Given the description of an element on the screen output the (x, y) to click on. 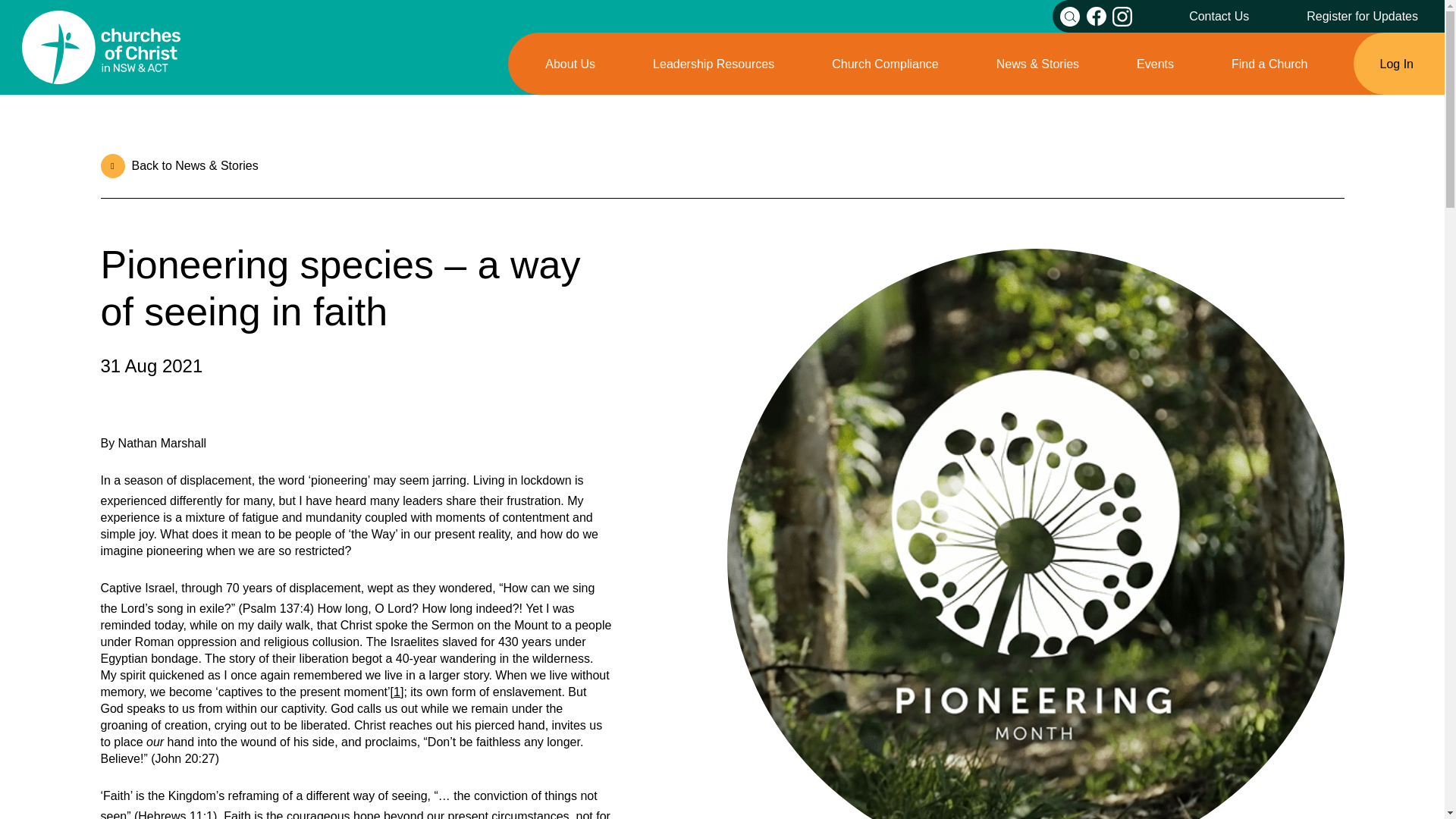
Register for Updates (1362, 16)
Find a Church (1269, 63)
About Us (569, 63)
Church Compliance (885, 63)
Contact Us (1219, 16)
Leadership Resources (713, 63)
Instagram (1122, 15)
Events (1155, 63)
Facebook (1096, 16)
